Given the description of an element on the screen output the (x, y) to click on. 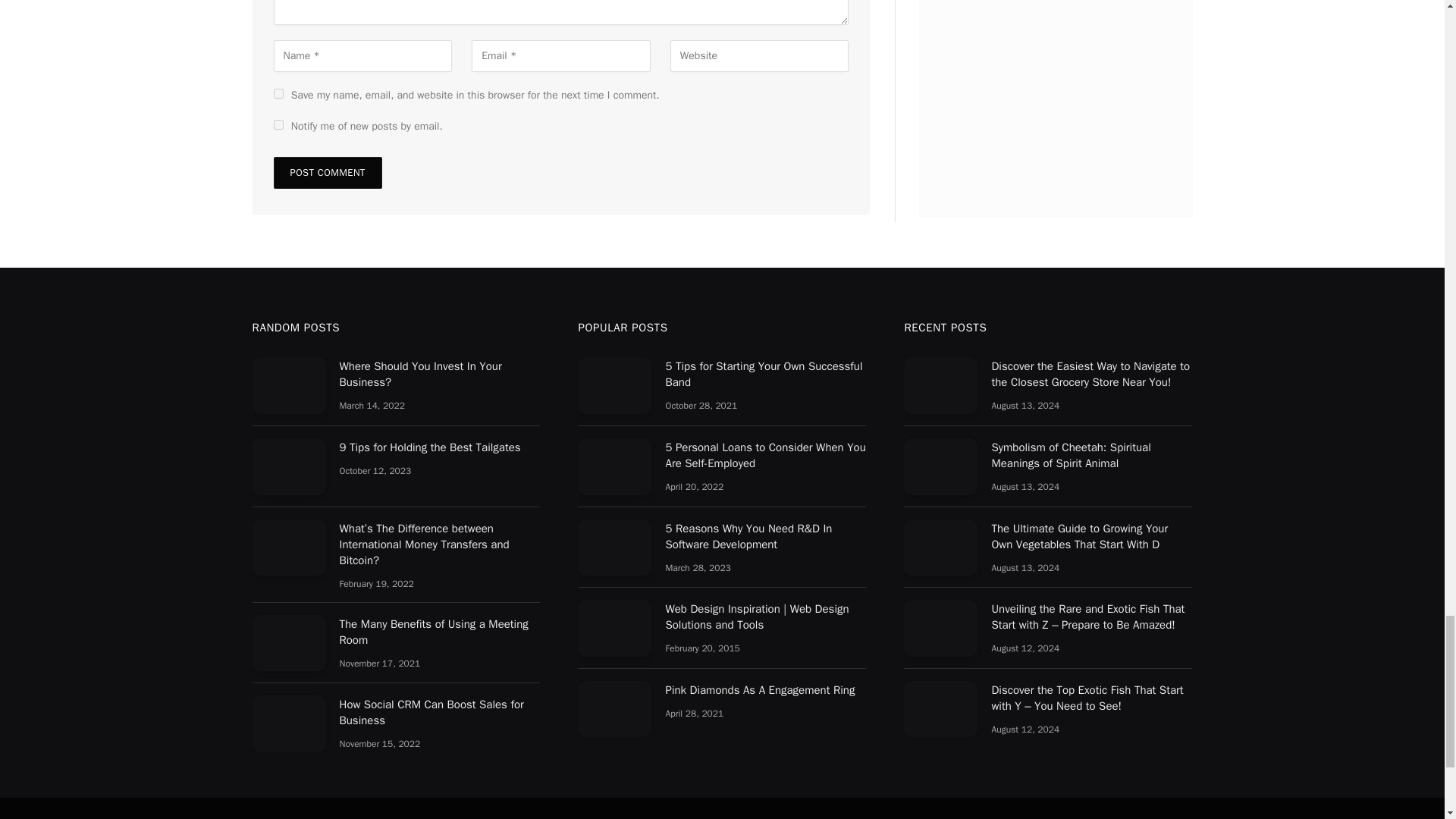
subscribe (277, 124)
Post Comment (327, 173)
yes (277, 93)
